Given the description of an element on the screen output the (x, y) to click on. 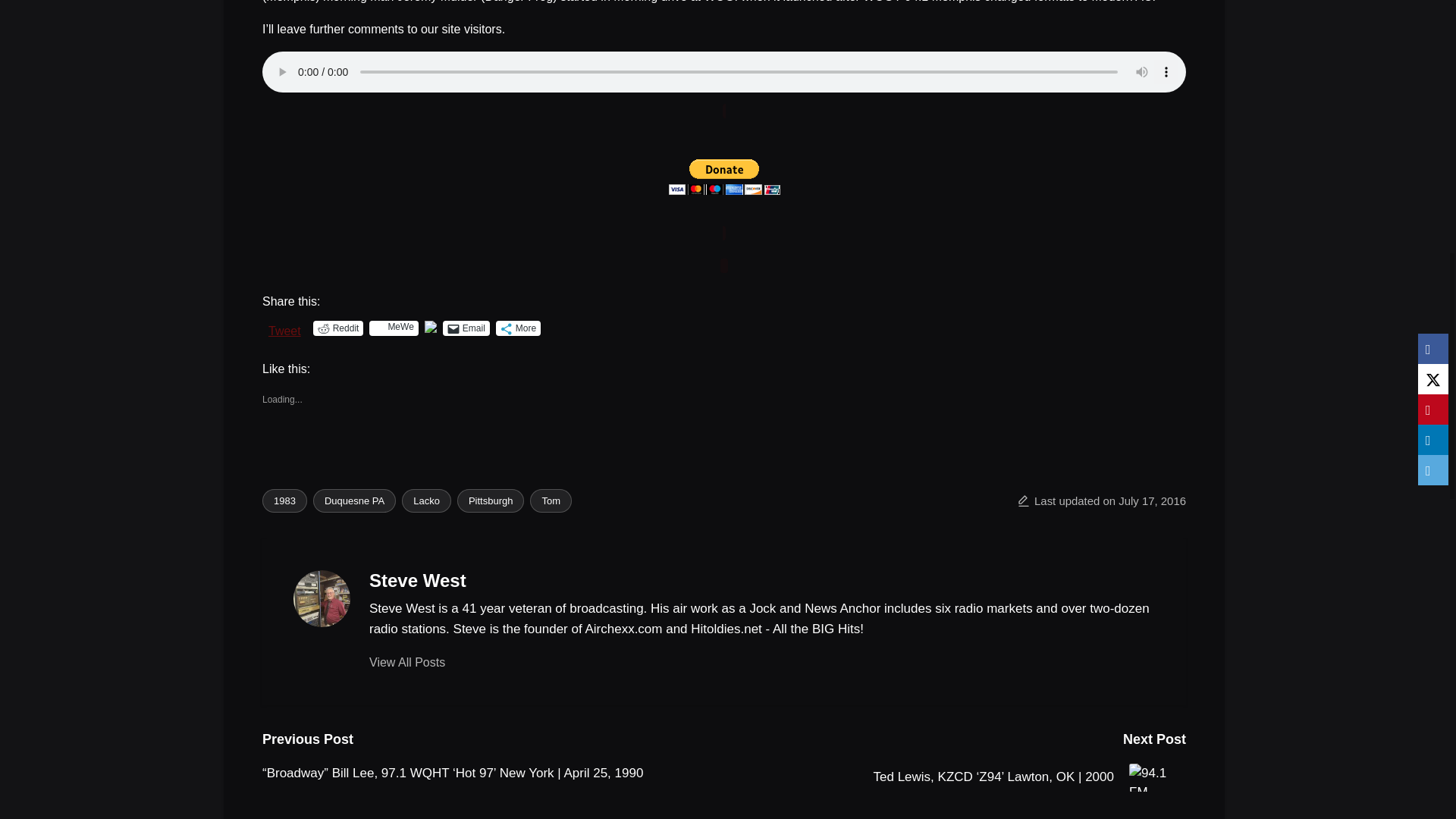
Click to share on Reddit (338, 328)
Click to share on MeWe (393, 328)
Reddit (338, 328)
Click to email a link to a friend (465, 328)
Tweet (284, 327)
